Given the description of an element on the screen output the (x, y) to click on. 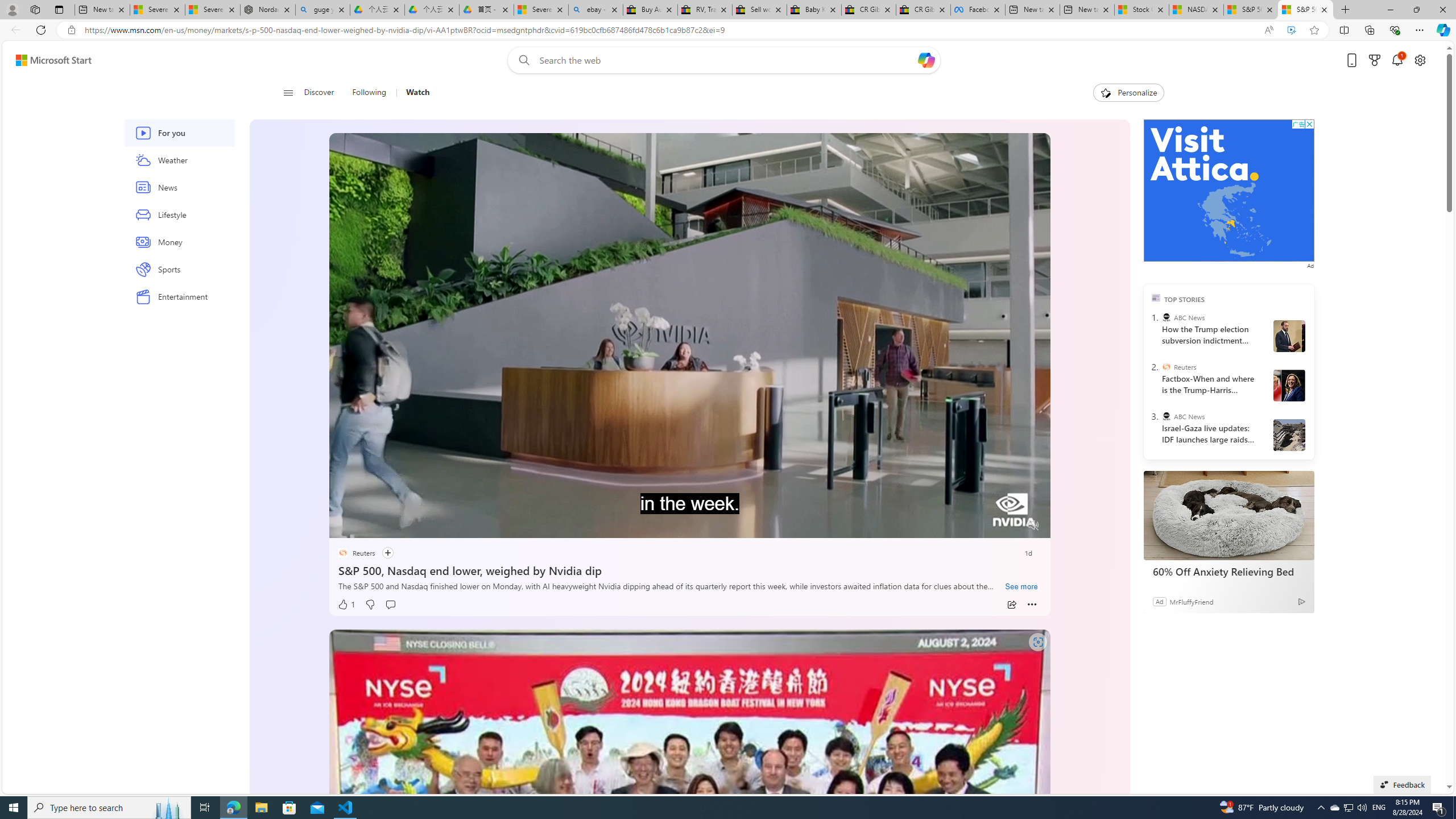
Seek Forward (391, 525)
Unmute (1033, 524)
AutomationID: cbb (1308, 124)
Share (1010, 604)
Open navigation menu (287, 92)
S&P 500, Nasdaq end lower, weighed by Nvidia dip | Watch (1306, 9)
